Given the description of an element on the screen output the (x, y) to click on. 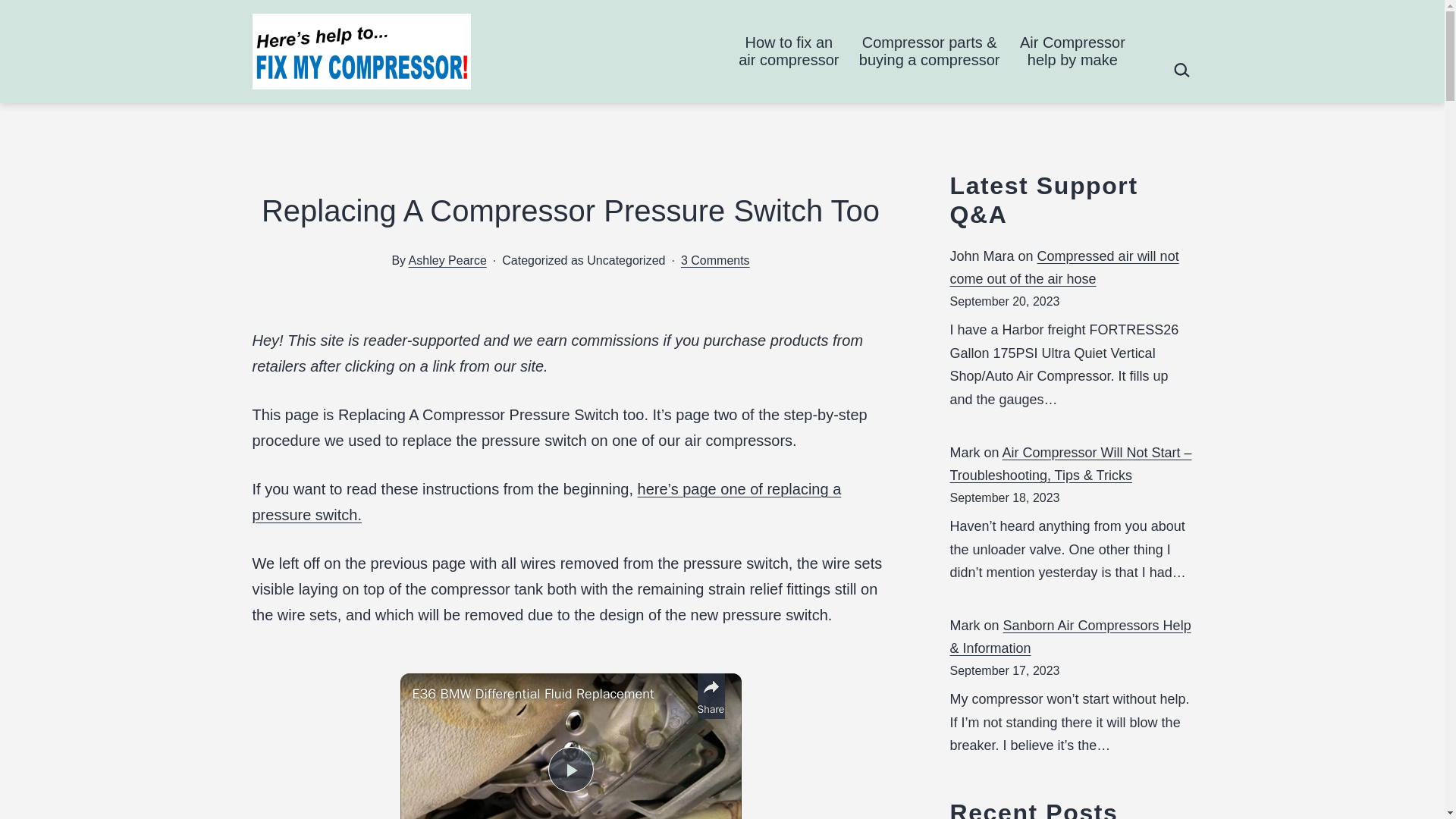
Share (711, 696)
share (711, 696)
replacing a compressor pressure switch (546, 501)
Compressed air will not come out of the air hose (1063, 267)
Play Video (569, 769)
E36 BMW Differential Fluid Replacement (715, 259)
Ashley Pearce (1072, 51)
Play Video (788, 51)
